Given the description of an element on the screen output the (x, y) to click on. 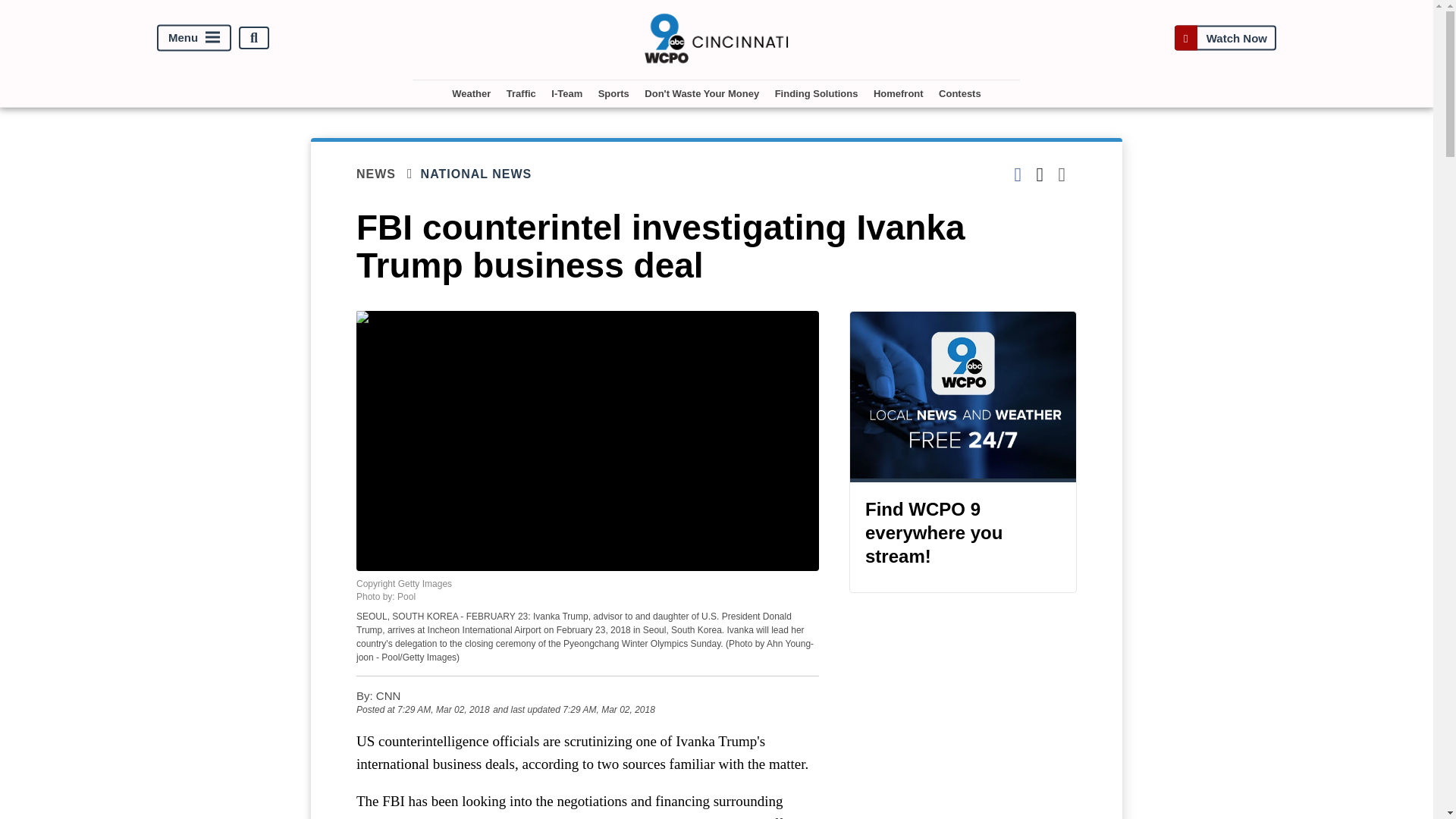
Watch Now (1224, 38)
Menu (194, 38)
